Given the description of an element on the screen output the (x, y) to click on. 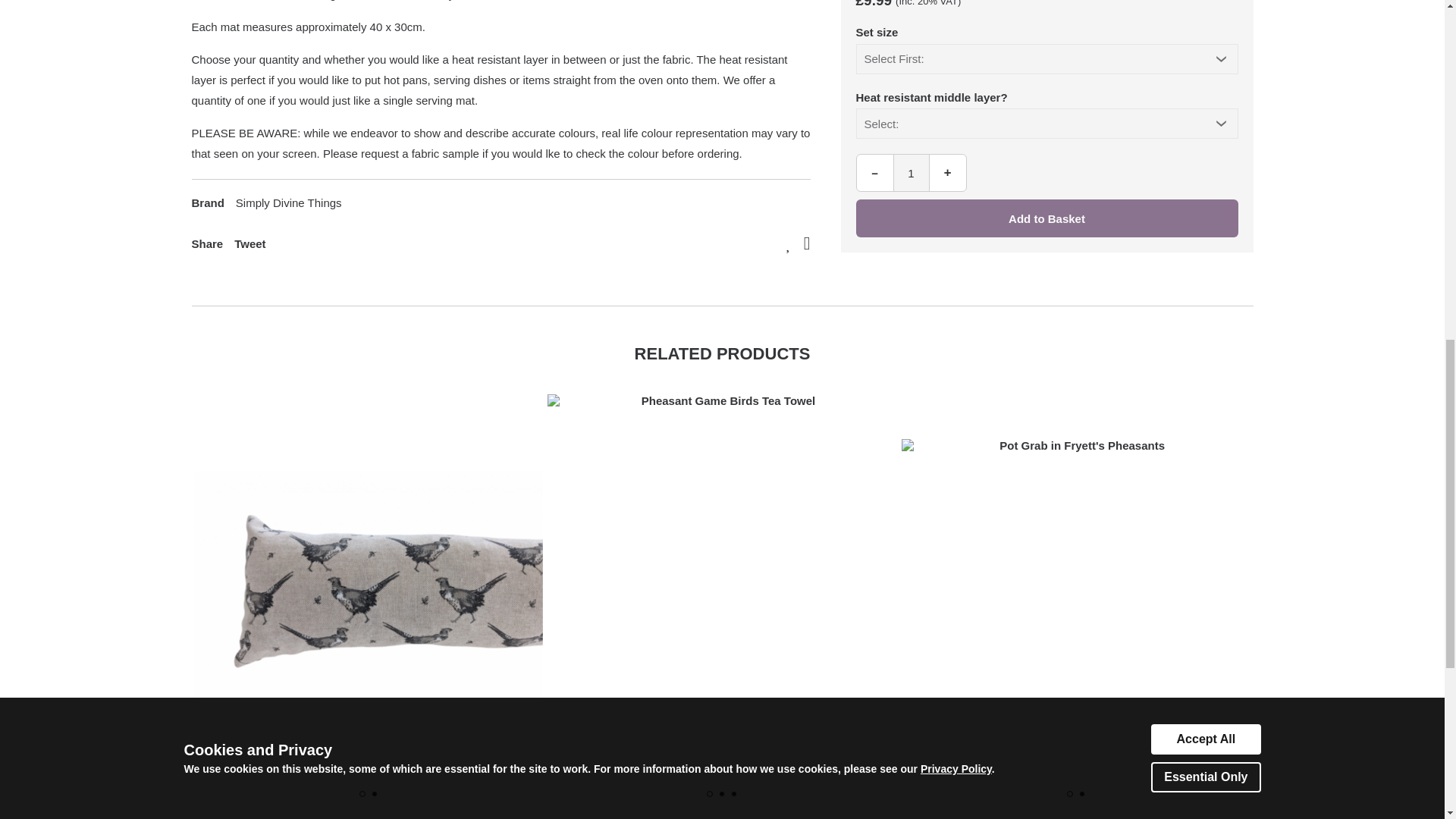
Tweet (249, 243)
Share (206, 243)
